Given the description of an element on the screen output the (x, y) to click on. 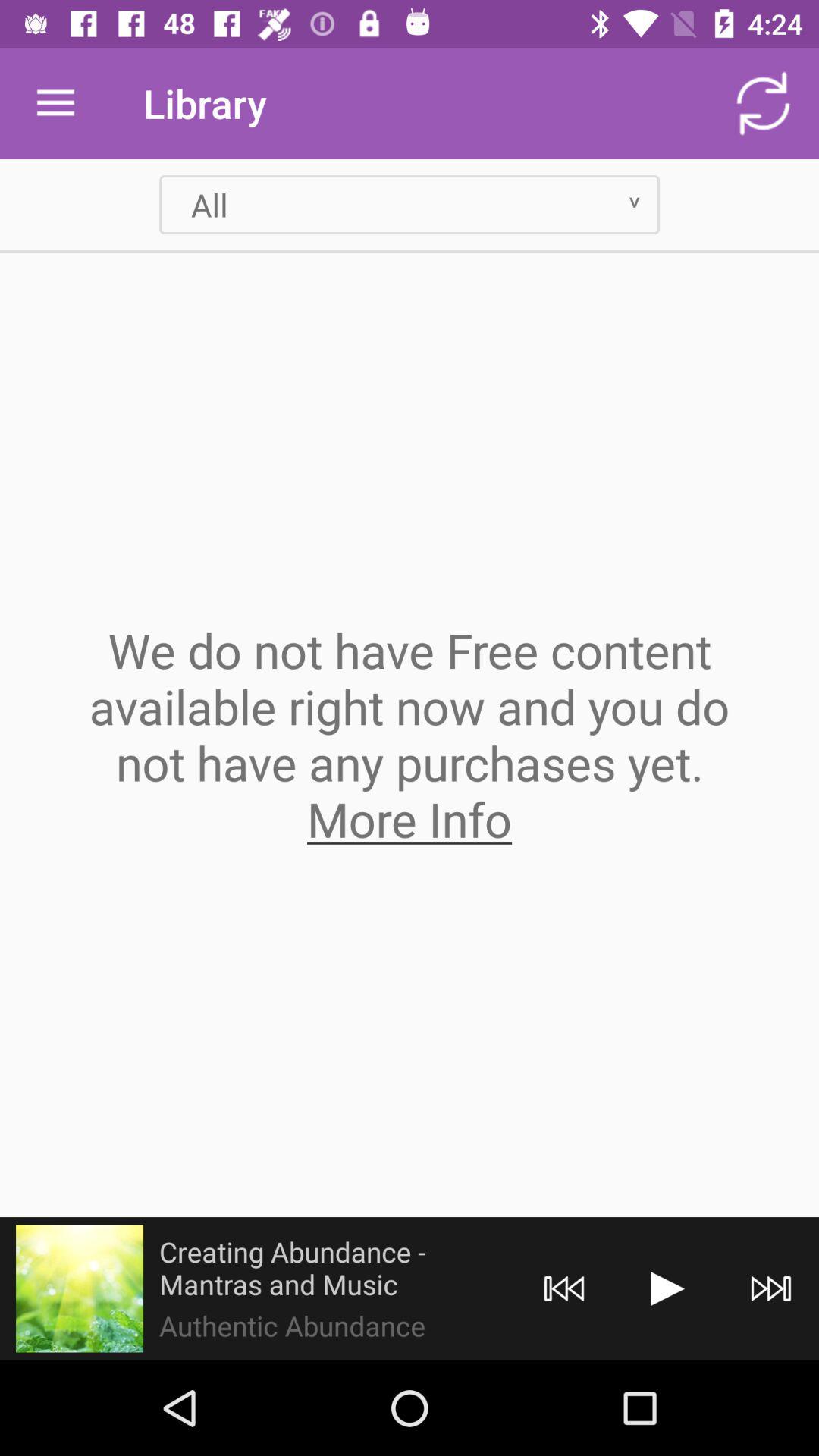
go to beginning (564, 1288)
